Given the description of an element on the screen output the (x, y) to click on. 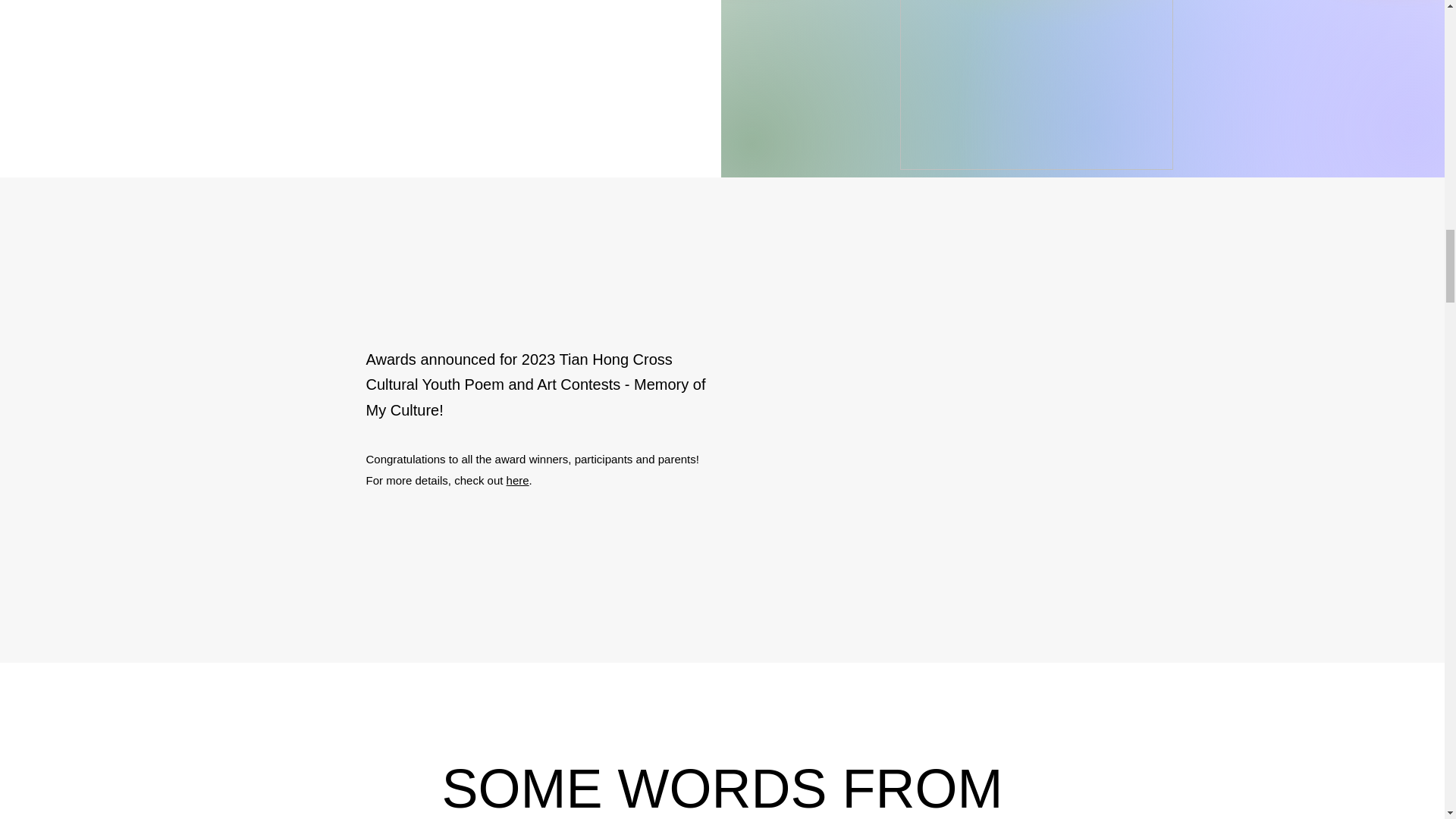
here (517, 480)
External YouTube (903, 419)
